Given the description of an element on the screen output the (x, y) to click on. 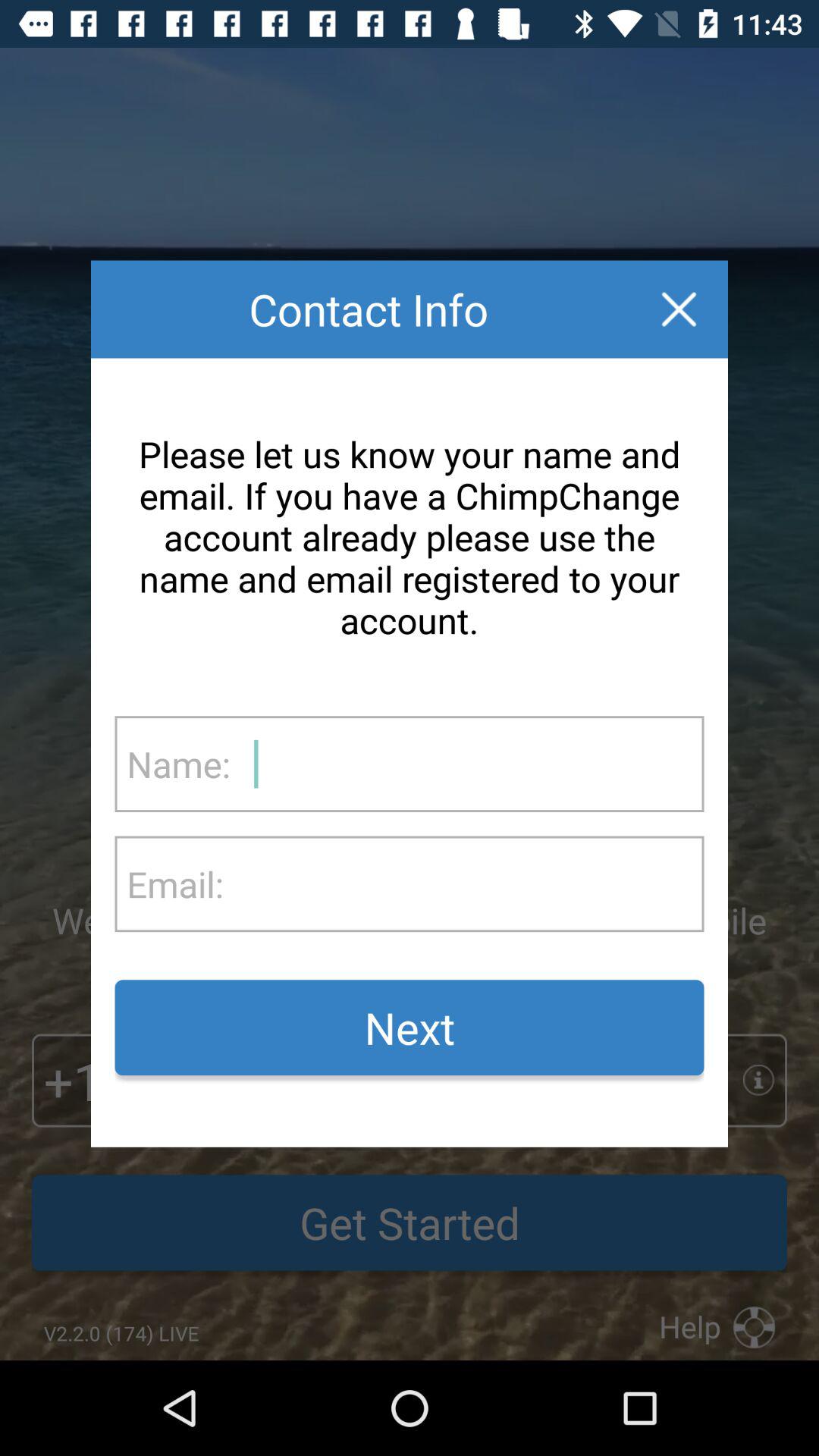
input email address (463, 884)
